Given the description of an element on the screen output the (x, y) to click on. 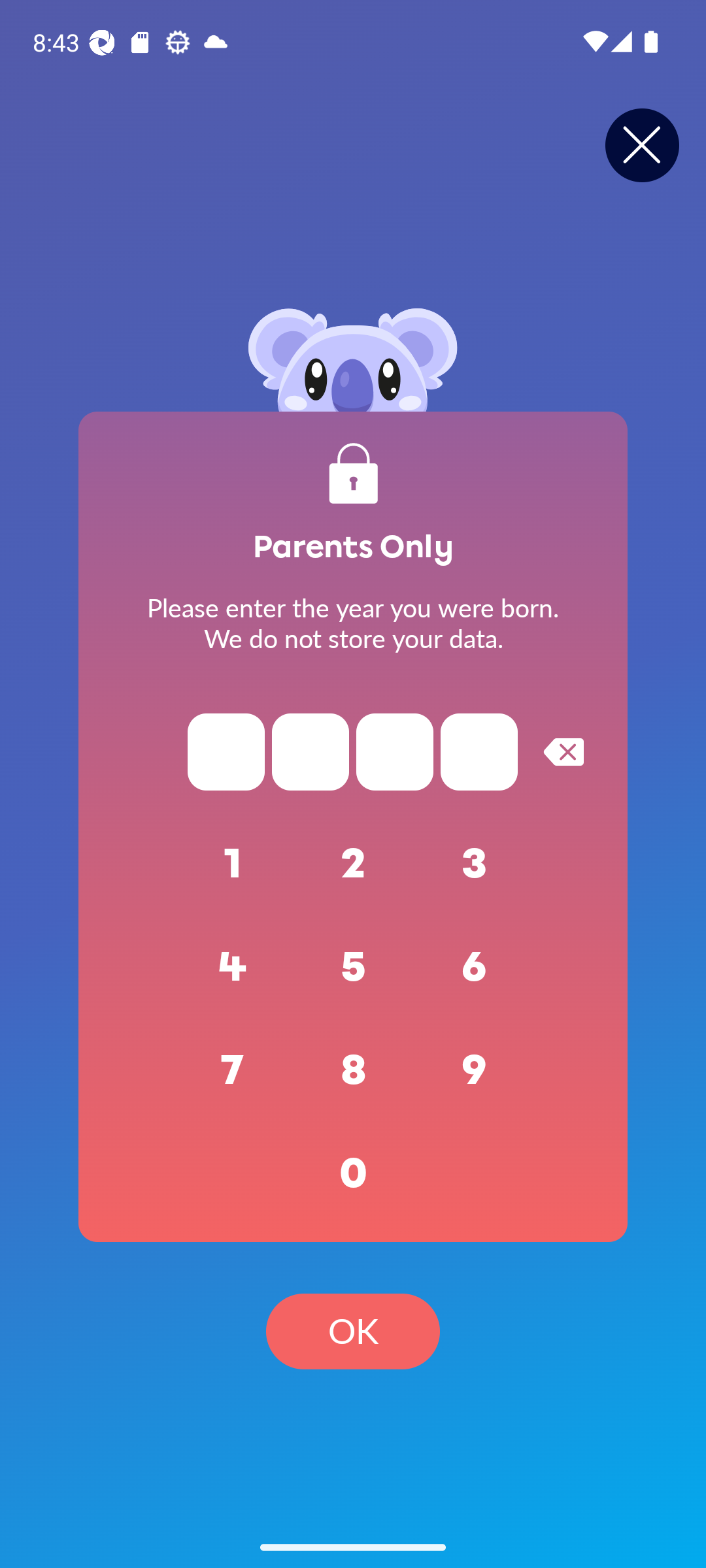
Delete (563, 751)
1 (232, 863)
2 (353, 863)
3 (474, 863)
4 (232, 966)
5 (353, 966)
6 (474, 966)
7 (232, 1069)
8 (353, 1069)
9 (474, 1069)
0 (353, 1173)
OK (352, 1331)
